Given the description of an element on the screen output the (x, y) to click on. 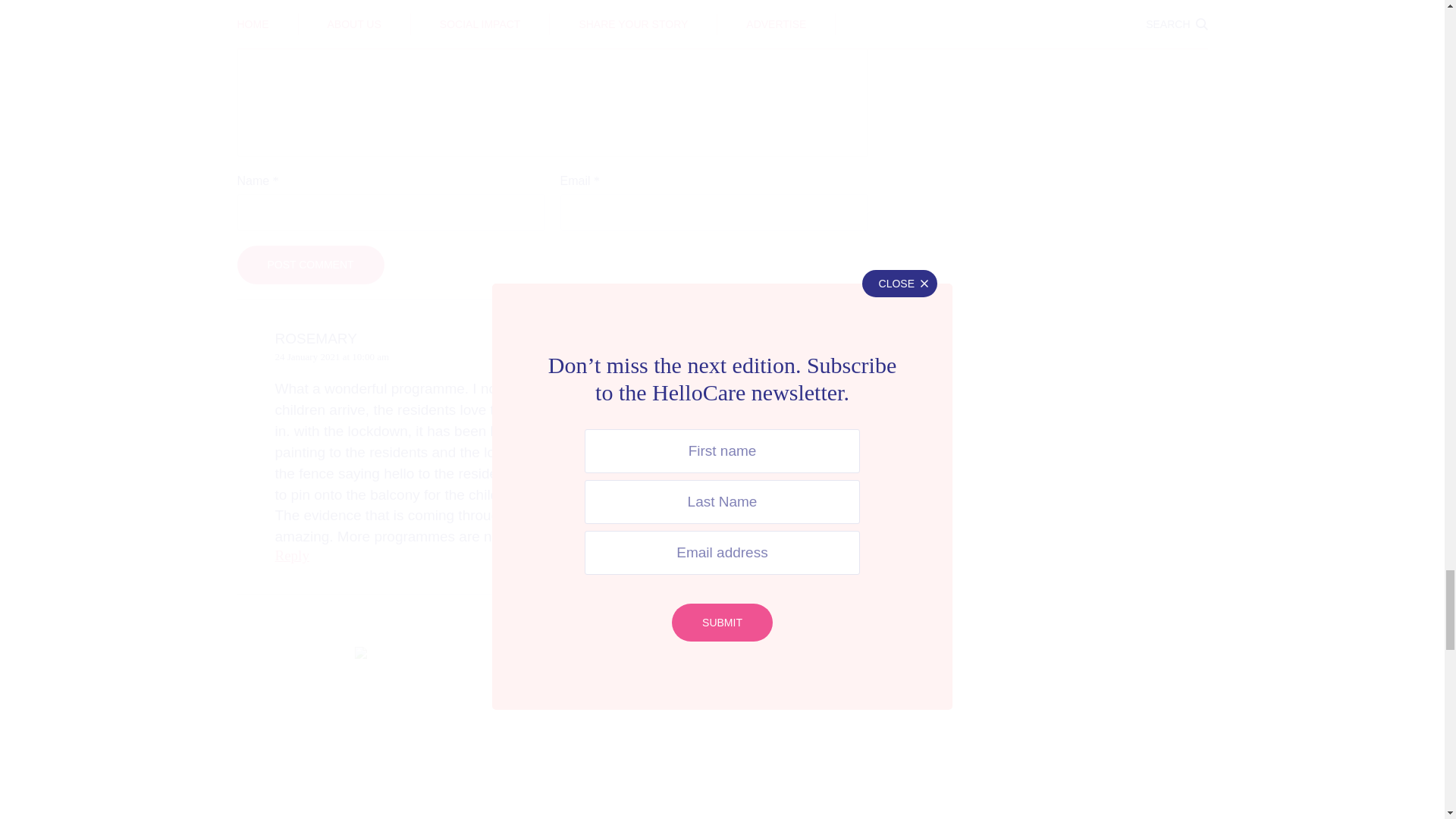
Post Comment (309, 264)
